Given the description of an element on the screen output the (x, y) to click on. 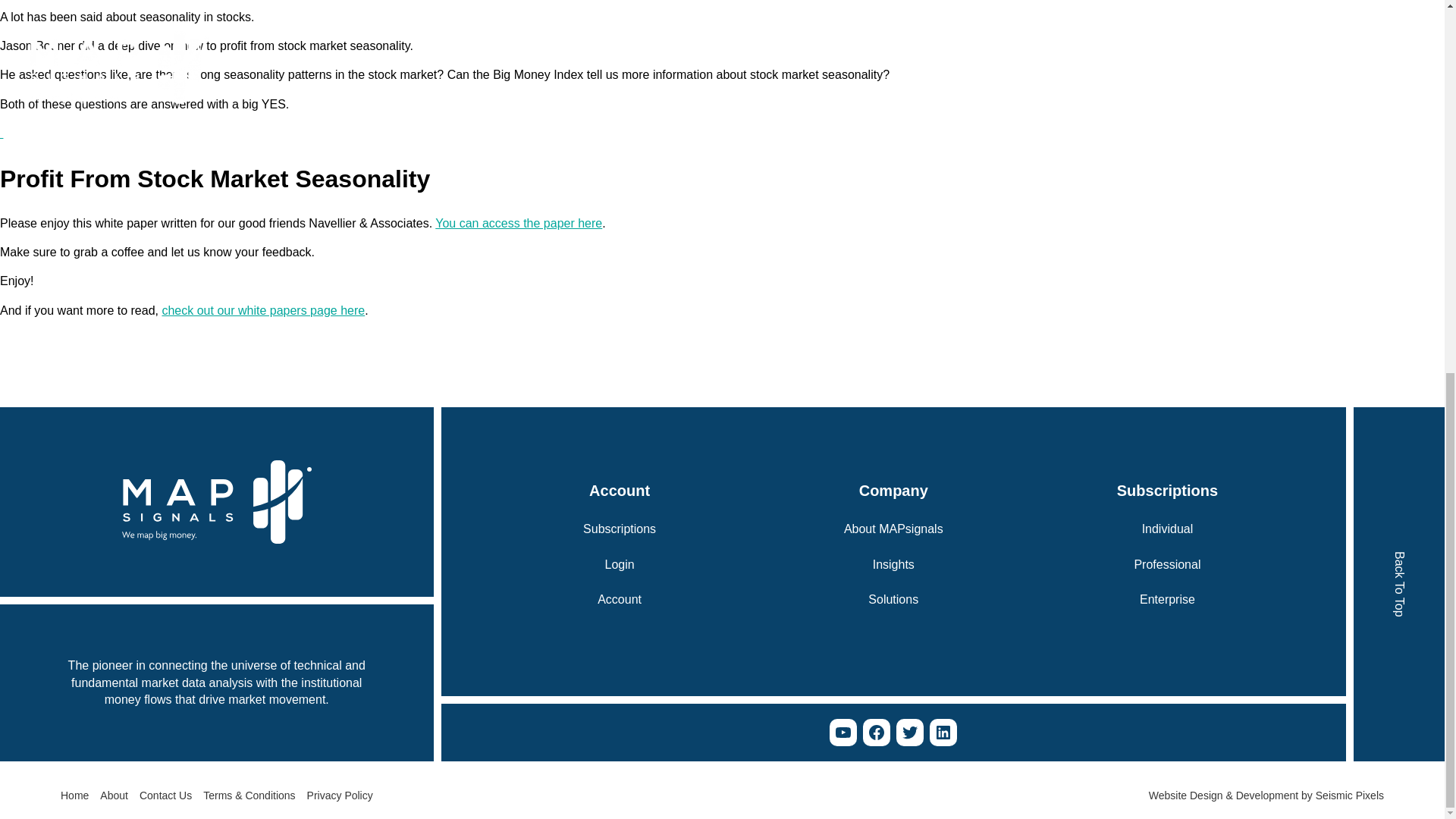
Twitter (909, 732)
You can access the paper here (518, 223)
Subscriptions (619, 528)
Privacy Policy (339, 795)
Contact Us (165, 795)
Insights (893, 564)
Account (619, 599)
Login (619, 564)
Facebook (876, 732)
Home (74, 795)
